Given the description of an element on the screen output the (x, y) to click on. 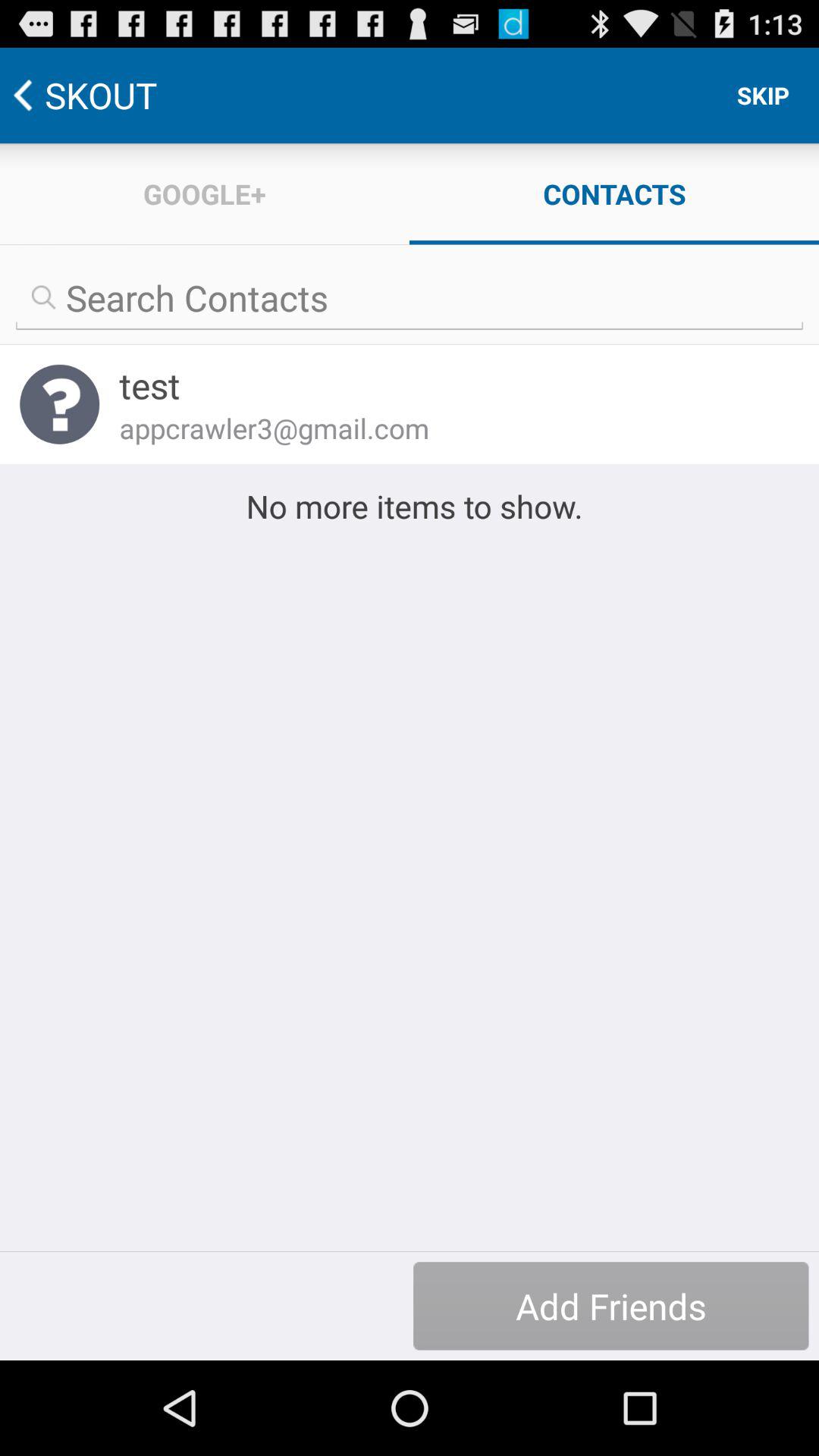
flip until skip item (763, 95)
